Given the description of an element on the screen output the (x, y) to click on. 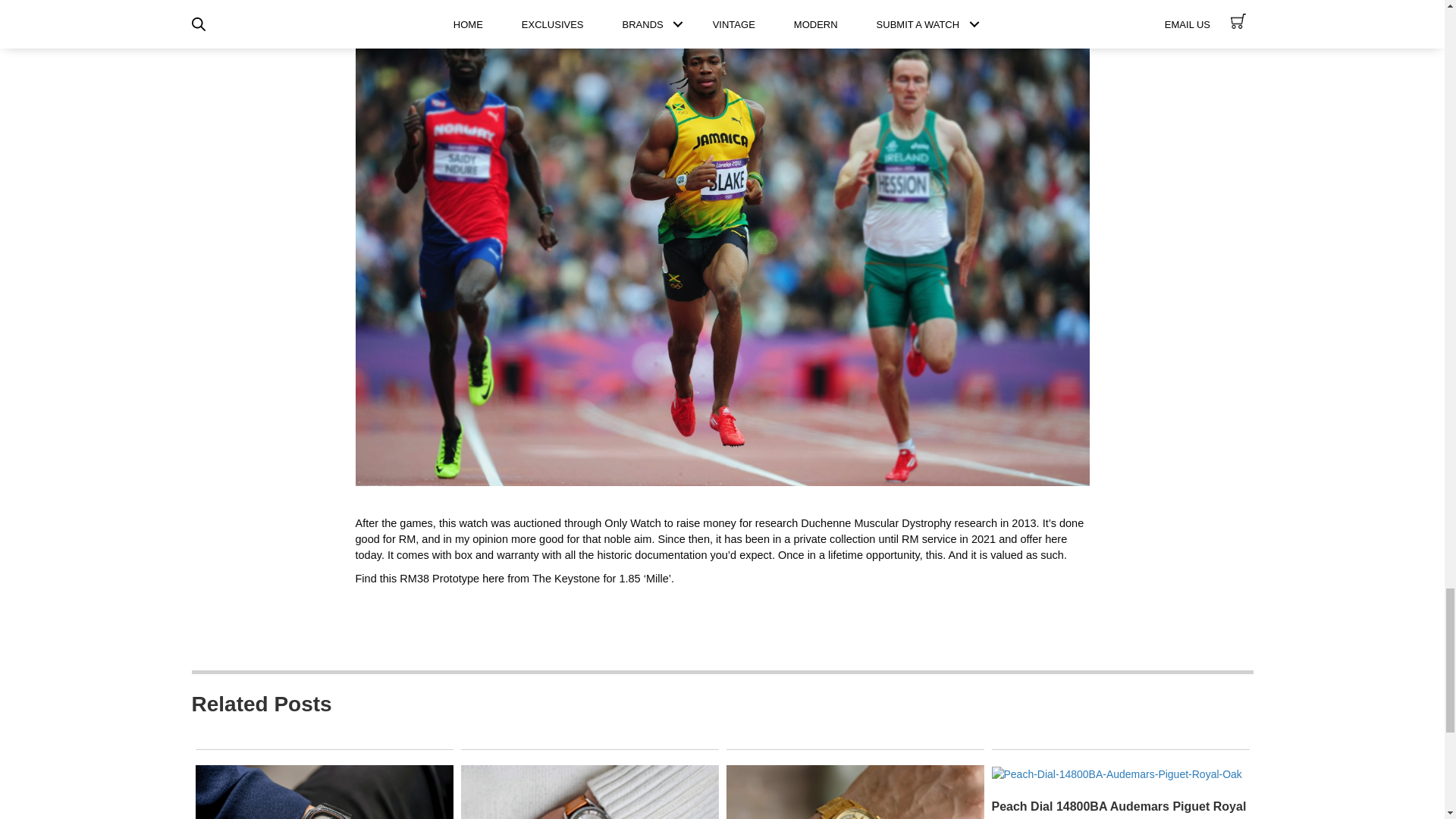
Peach Dial 14800BA Audemars Piguet Royal Oak (1118, 809)
Peach Dial 14800BA Audemars Piguet Royal Oak (1116, 772)
